Given the description of an element on the screen output the (x, y) to click on. 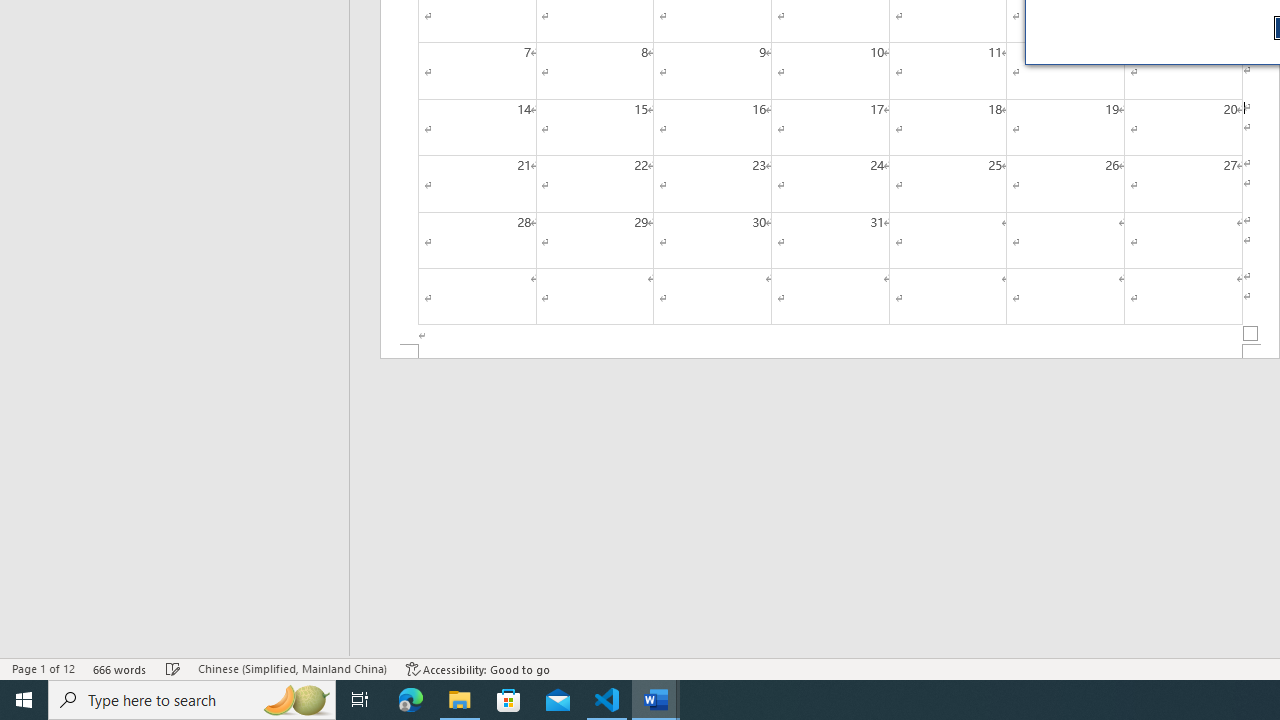
Visual Studio Code - 1 running window (607, 699)
File Explorer - 1 running window (460, 699)
Spelling and Grammar Check Checking (173, 668)
Footer -Section 1- (830, 351)
Search highlights icon opens search home window (295, 699)
Language Chinese (Simplified, Mainland China) (292, 668)
Type here to search (191, 699)
Word - 2 running windows (656, 699)
Microsoft Edge (411, 699)
Word Count 666 words (119, 668)
Task View (359, 699)
Microsoft Store (509, 699)
Page Number Page 1 of 12 (43, 668)
Accessibility Checker Accessibility: Good to go (478, 668)
